Given the description of an element on the screen output the (x, y) to click on. 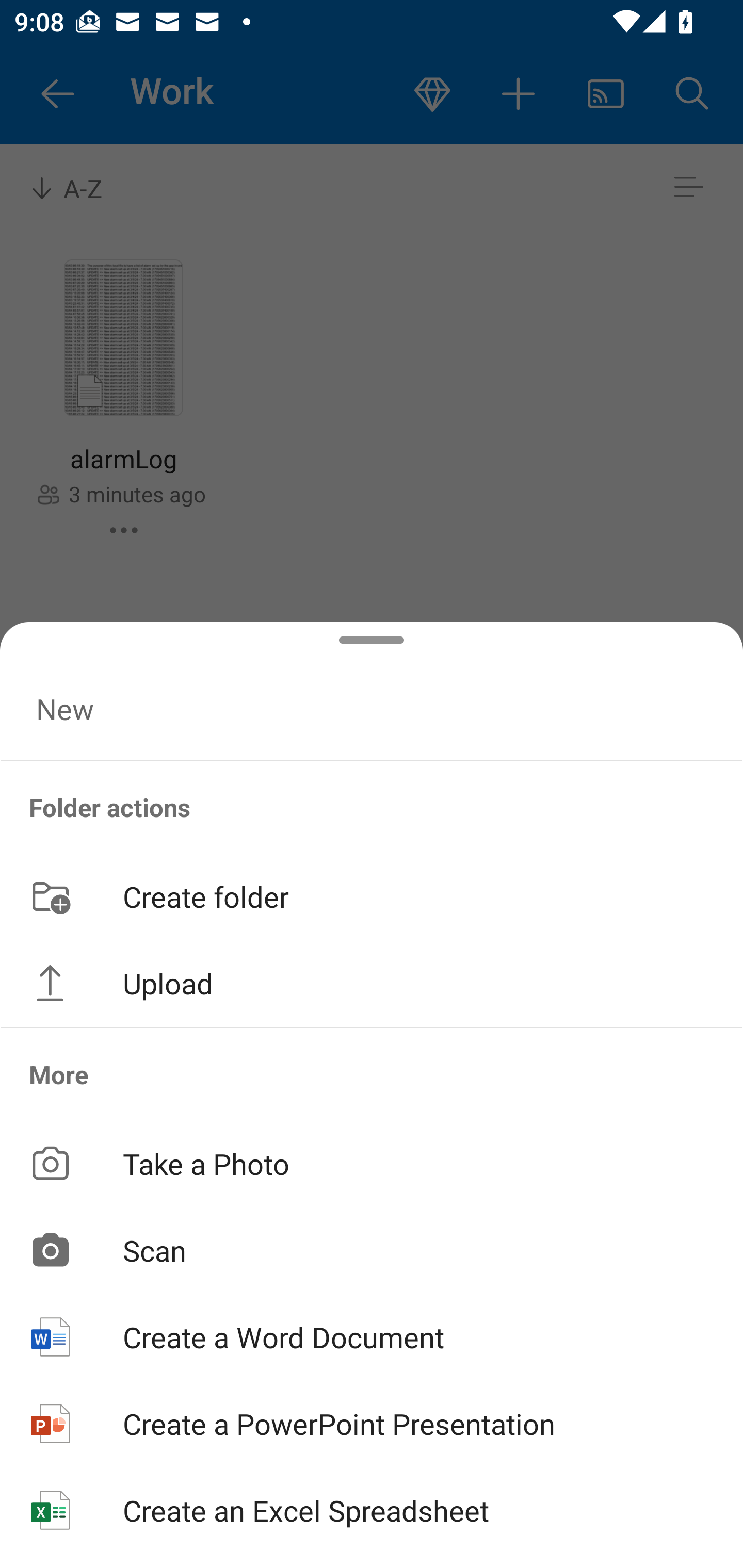
Create folder button Create folder (371, 895)
Upload button Upload (371, 983)
Take a Photo button Take a Photo (371, 1163)
Scan button Scan (371, 1250)
